Given the description of an element on the screen output the (x, y) to click on. 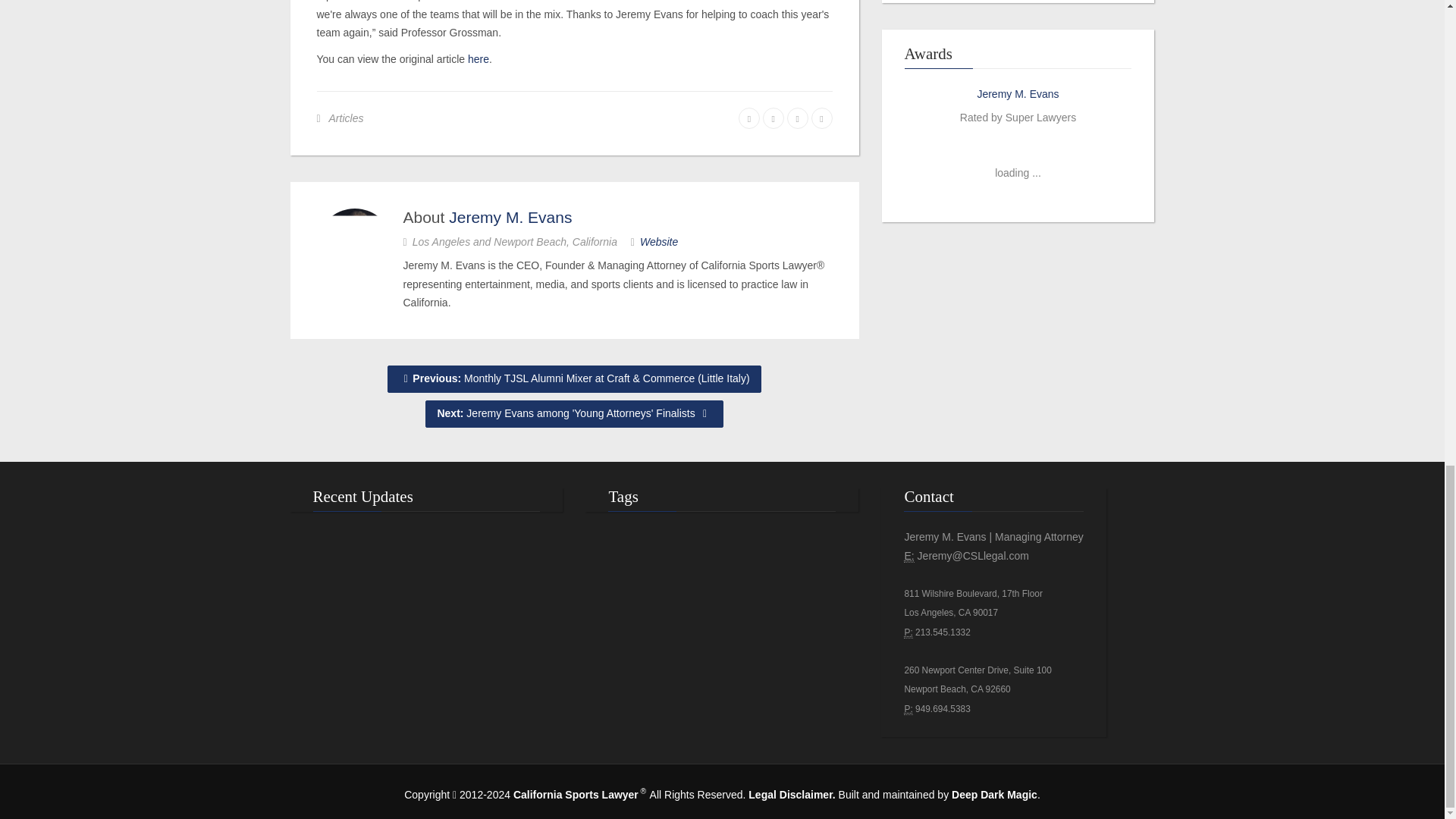
Articles (346, 118)
California Sports Lawyer (576, 794)
here (478, 59)
Deep Dark Magic (994, 794)
Next: Jeremy Evans among 'Young Attorneys' Finalists (573, 413)
Jeremy M. Evans (1017, 93)
Legal Disclaimer. (791, 794)
Jeremy M. Evans (510, 217)
Website (659, 241)
